Given the description of an element on the screen output the (x, y) to click on. 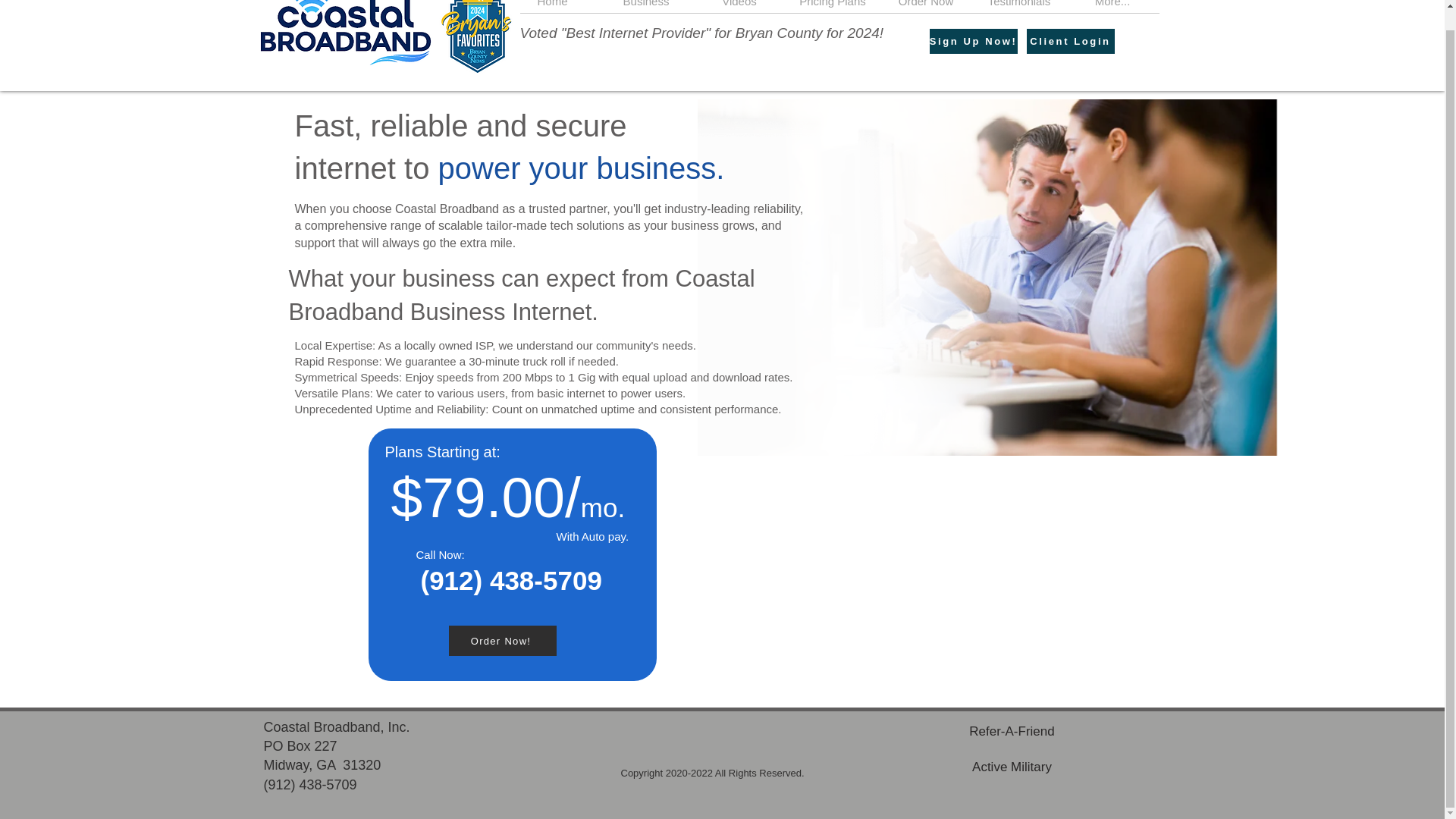
Home (551, 6)
Testimonials (1018, 6)
Pricing Plans (832, 6)
Order Now (925, 6)
Business (645, 6)
Sign Up Now! (973, 41)
Order Now! (502, 640)
Active Military (1011, 767)
Videos (739, 6)
Refer-A-Friend (1011, 731)
Client Login (1070, 41)
